Given the description of an element on the screen output the (x, y) to click on. 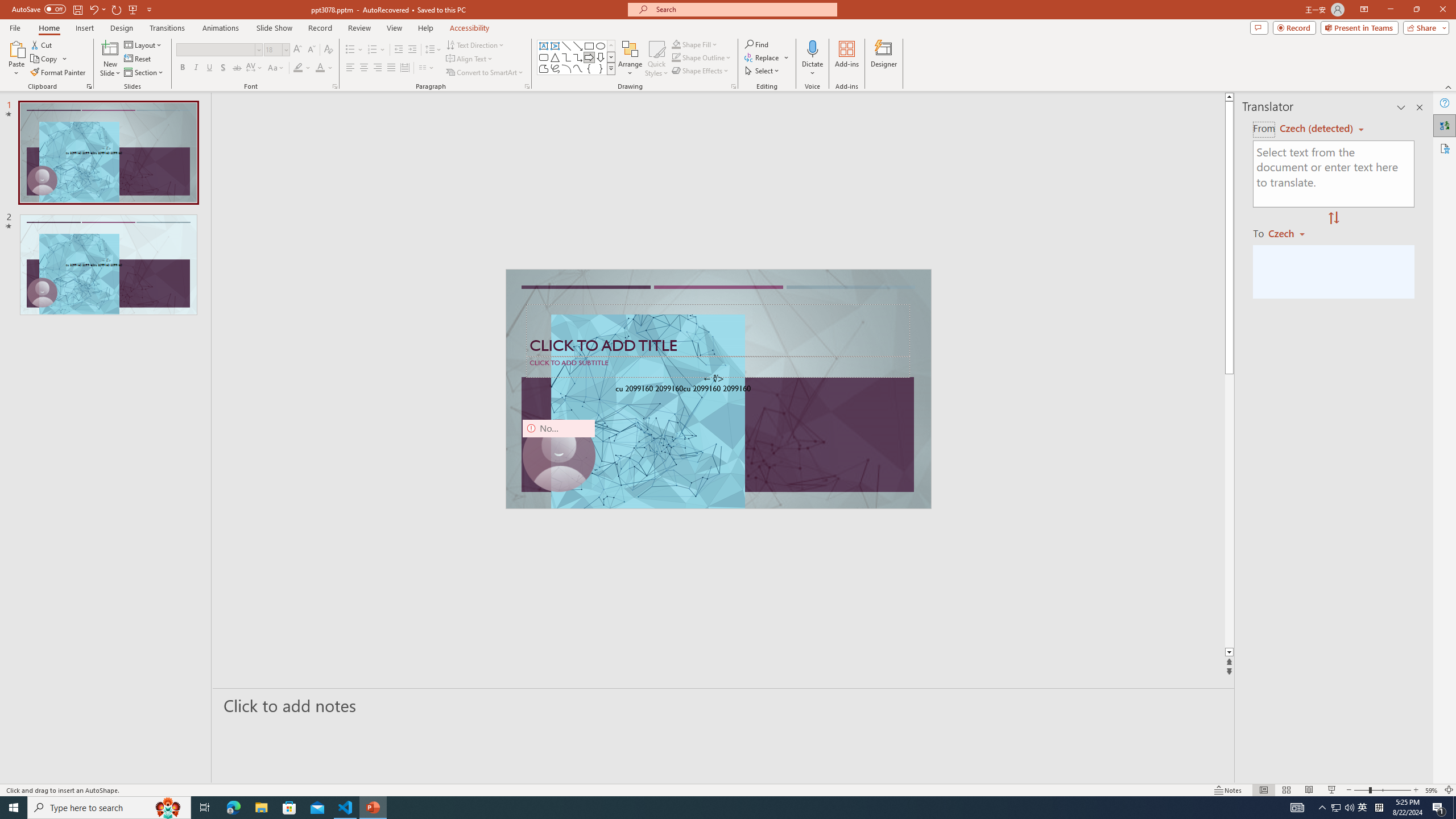
TextBox 61 (717, 389)
An abstract genetic concept (718, 388)
